Given the description of an element on the screen output the (x, y) to click on. 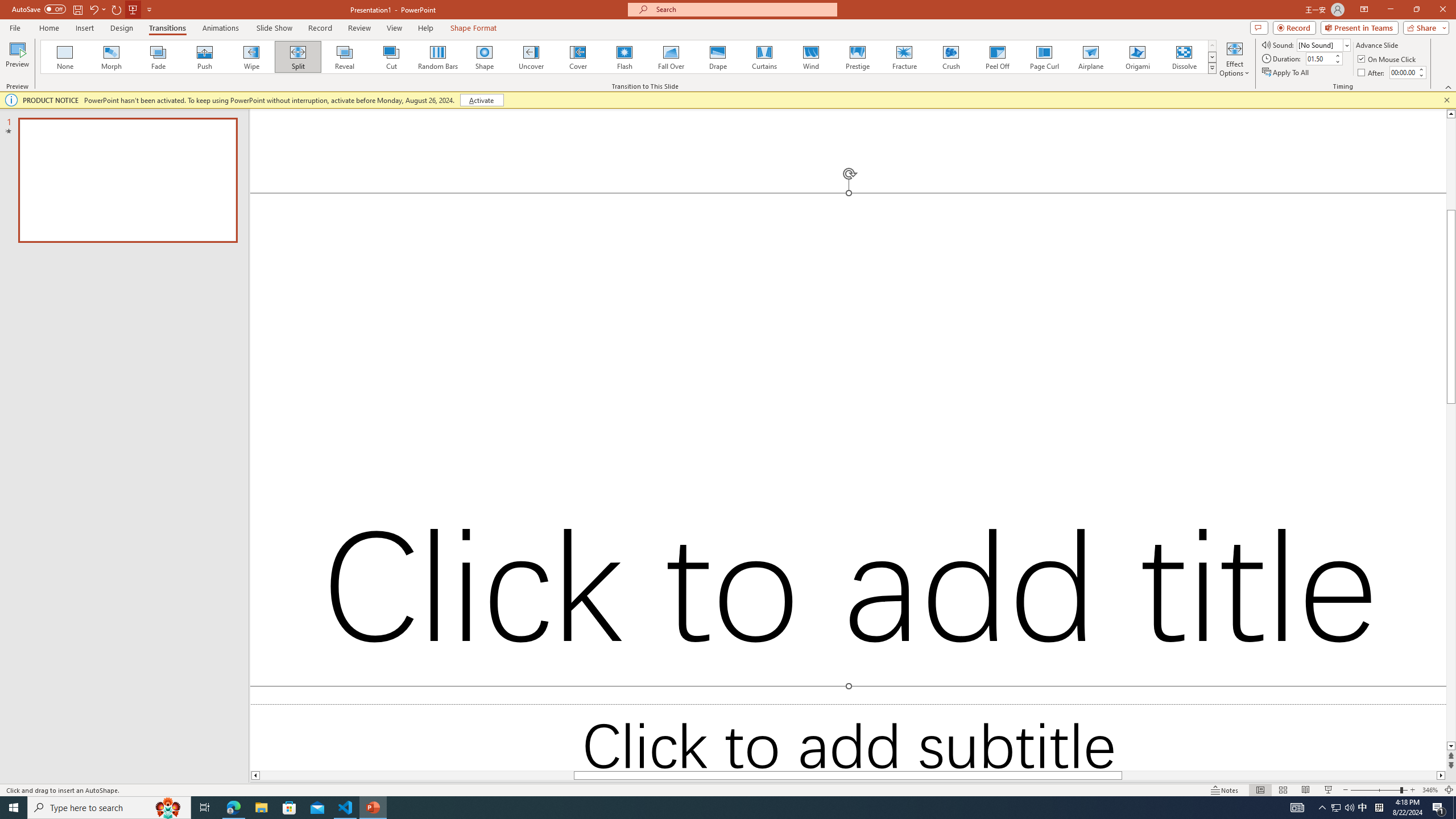
Can't Undo (165, 18)
Page 1 content (635, 492)
Task Pane Options (1402, 174)
Class: MsoCommandBar (728, 773)
Grow Font (244, 77)
Paragraph... (634, 128)
Disable Linked Styles (1350, 725)
Subtitle (1369, 365)
